Given the description of an element on the screen output the (x, y) to click on. 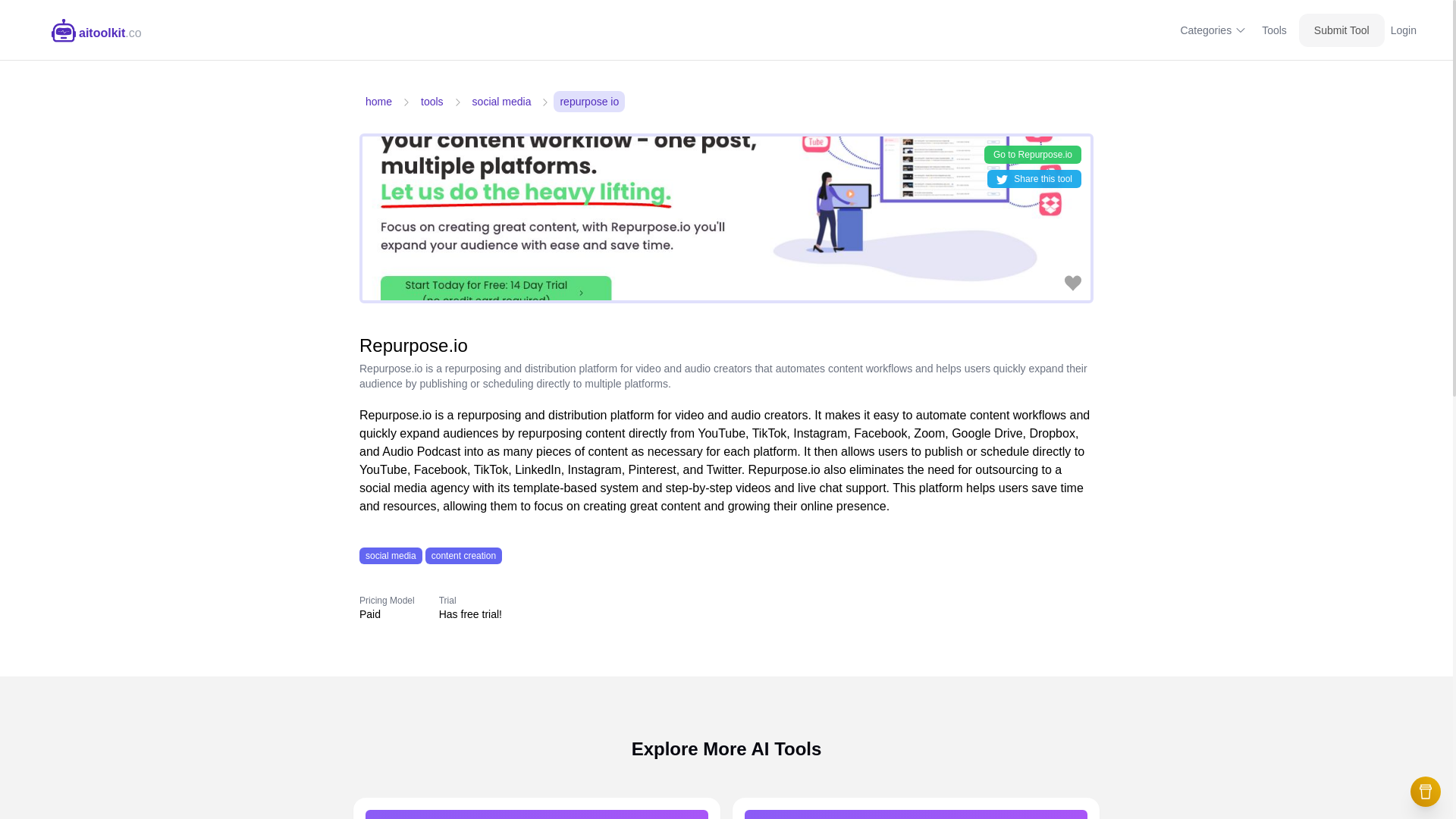
Categories (1212, 29)
social media (390, 555)
content creation (463, 555)
home (378, 101)
aitoolkit.co (96, 30)
Tools (1273, 30)
Submit Tool (1341, 29)
repurpose io (588, 101)
